Given the description of an element on the screen output the (x, y) to click on. 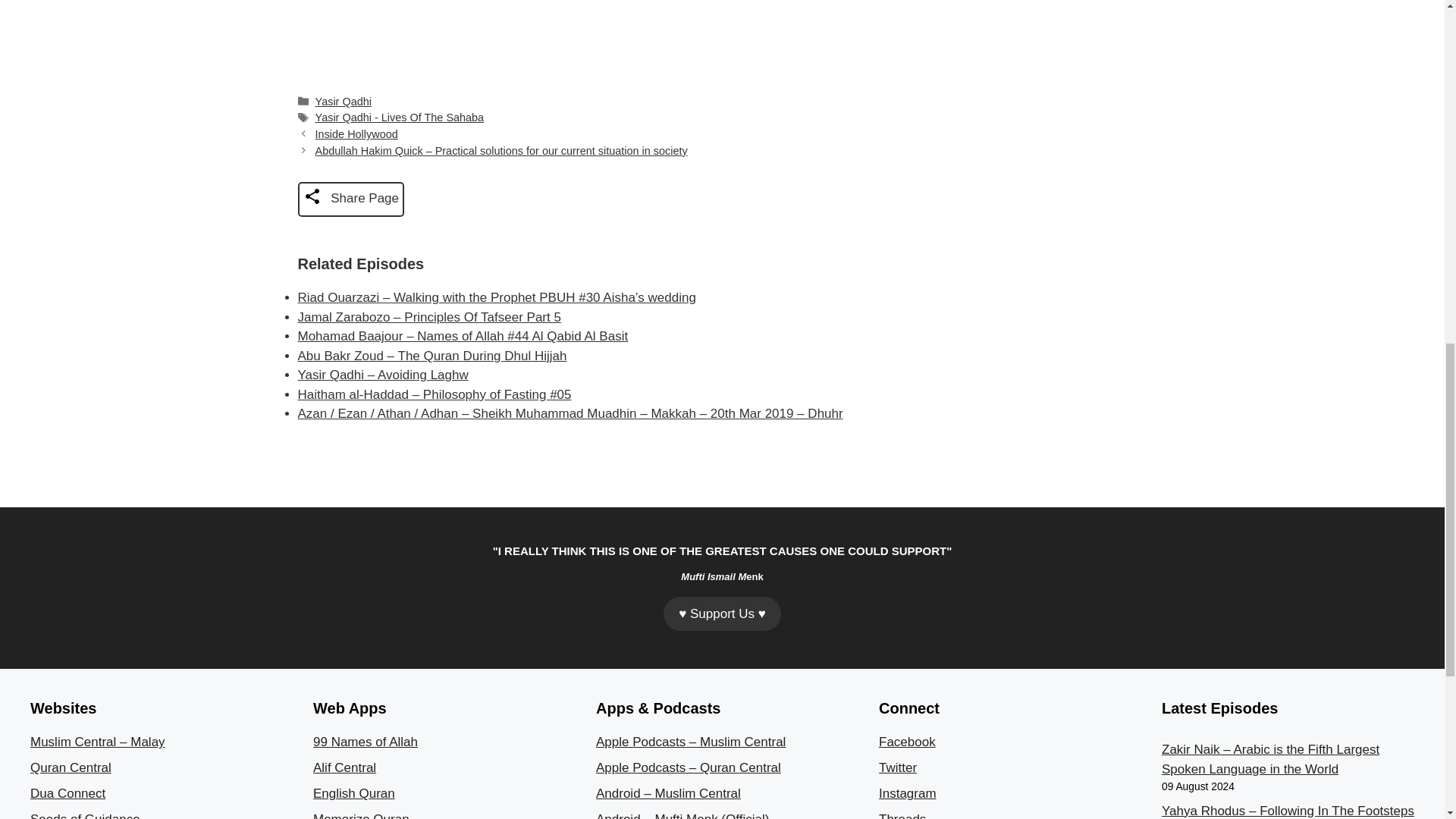
Quran Central (71, 767)
Memorize Quran (361, 815)
Seeds of Guidance (84, 815)
Yasir Qadhi - Lives Of The Sahaba (399, 117)
99 Names of Allah (365, 741)
Yasir Qadhi (343, 101)
Inside Hollywood (356, 133)
Alif Central (344, 767)
Dua Connect (67, 793)
English Quran (353, 793)
